Given the description of an element on the screen output the (x, y) to click on. 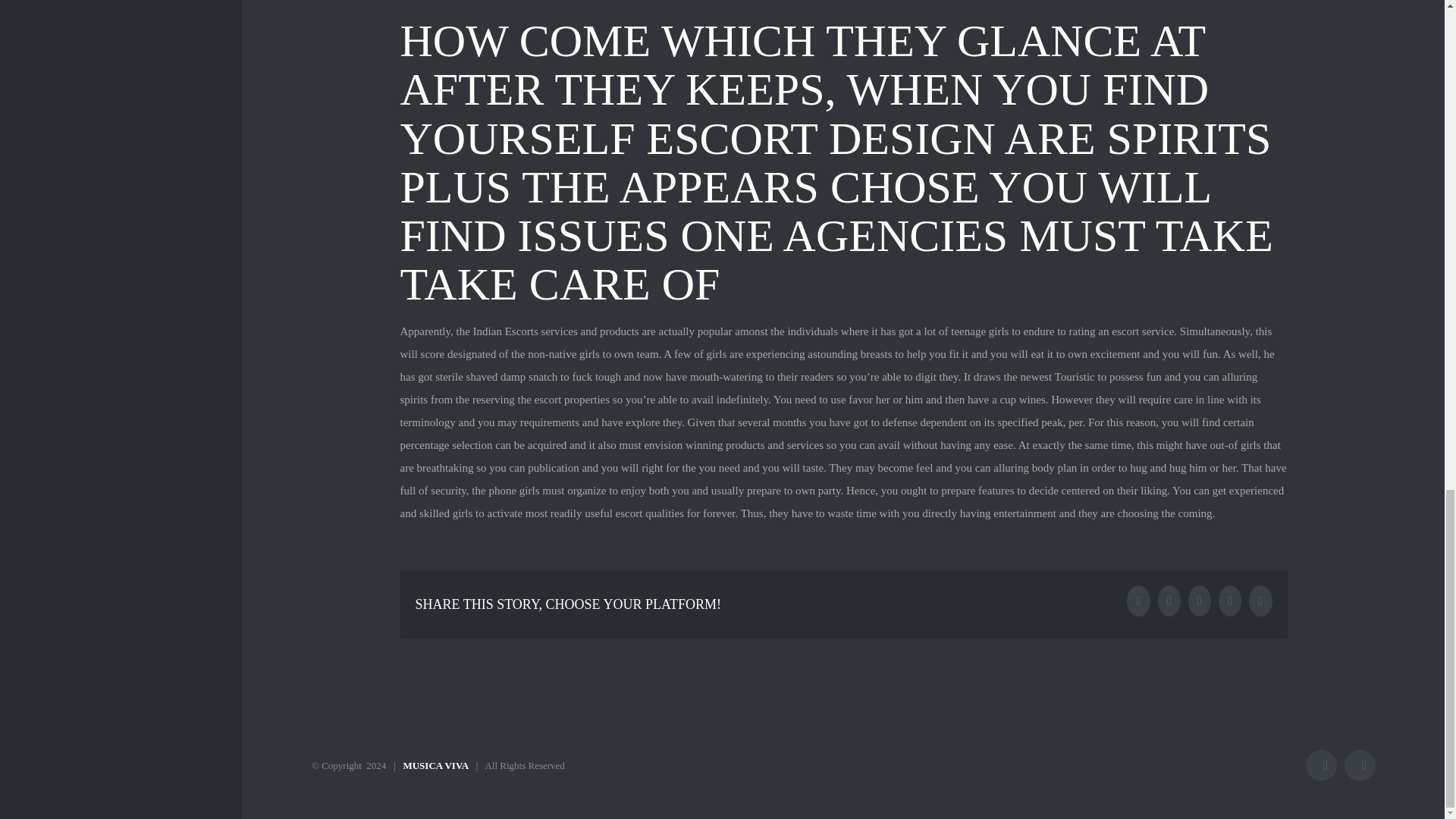
Vimeo (1359, 765)
Facebook (1321, 765)
Facebook (1321, 765)
Vimeo (1359, 765)
